Given the description of an element on the screen output the (x, y) to click on. 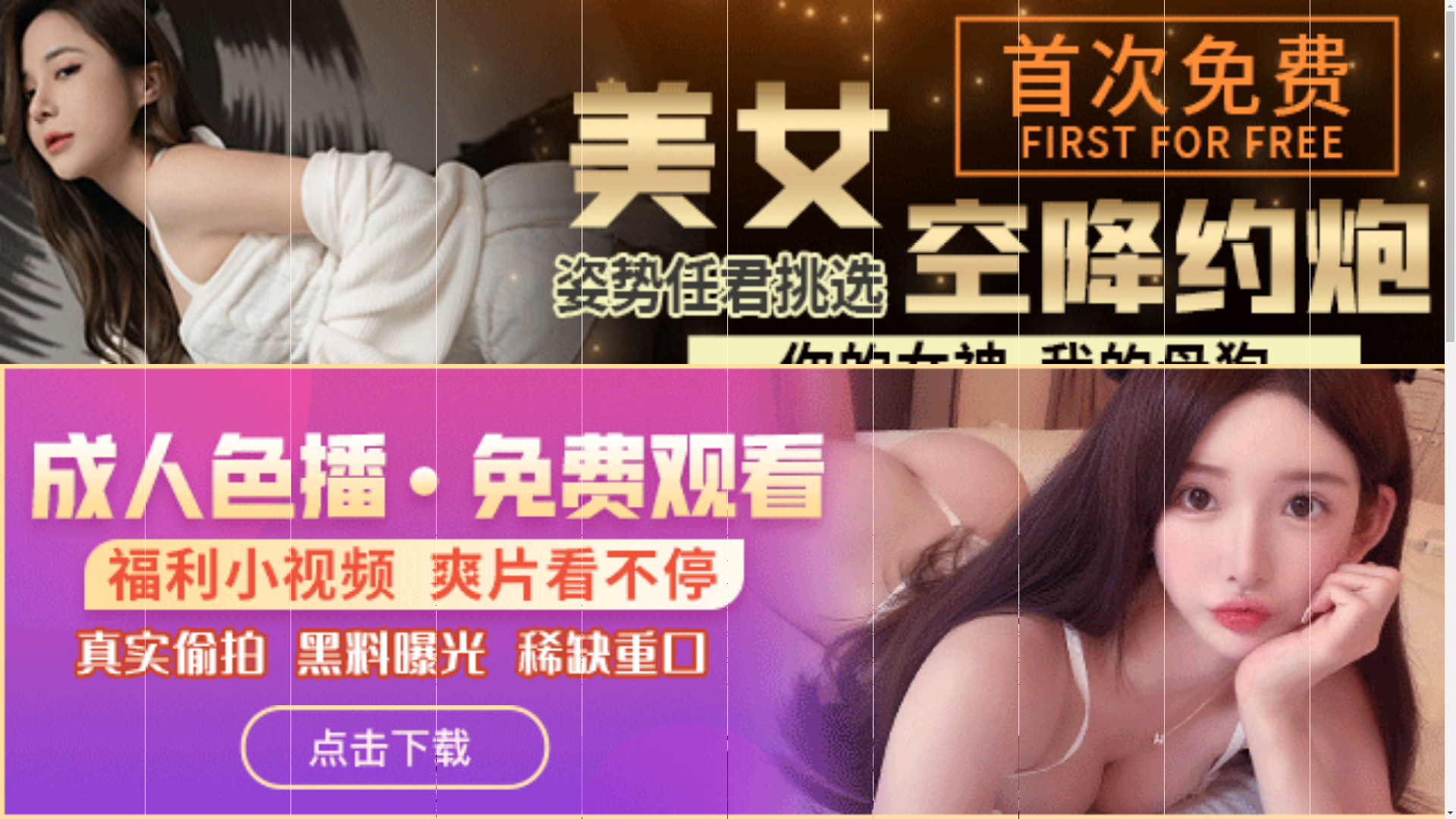
COS Element type: text (835, 646)
Korean Element type: text (700, 620)
3P Element type: text (968, 620)
91 Element type: text (567, 594)
91TV Element type: hover (1240, 593)
SM Element type: text (1013, 620)
